Given the description of an element on the screen output the (x, y) to click on. 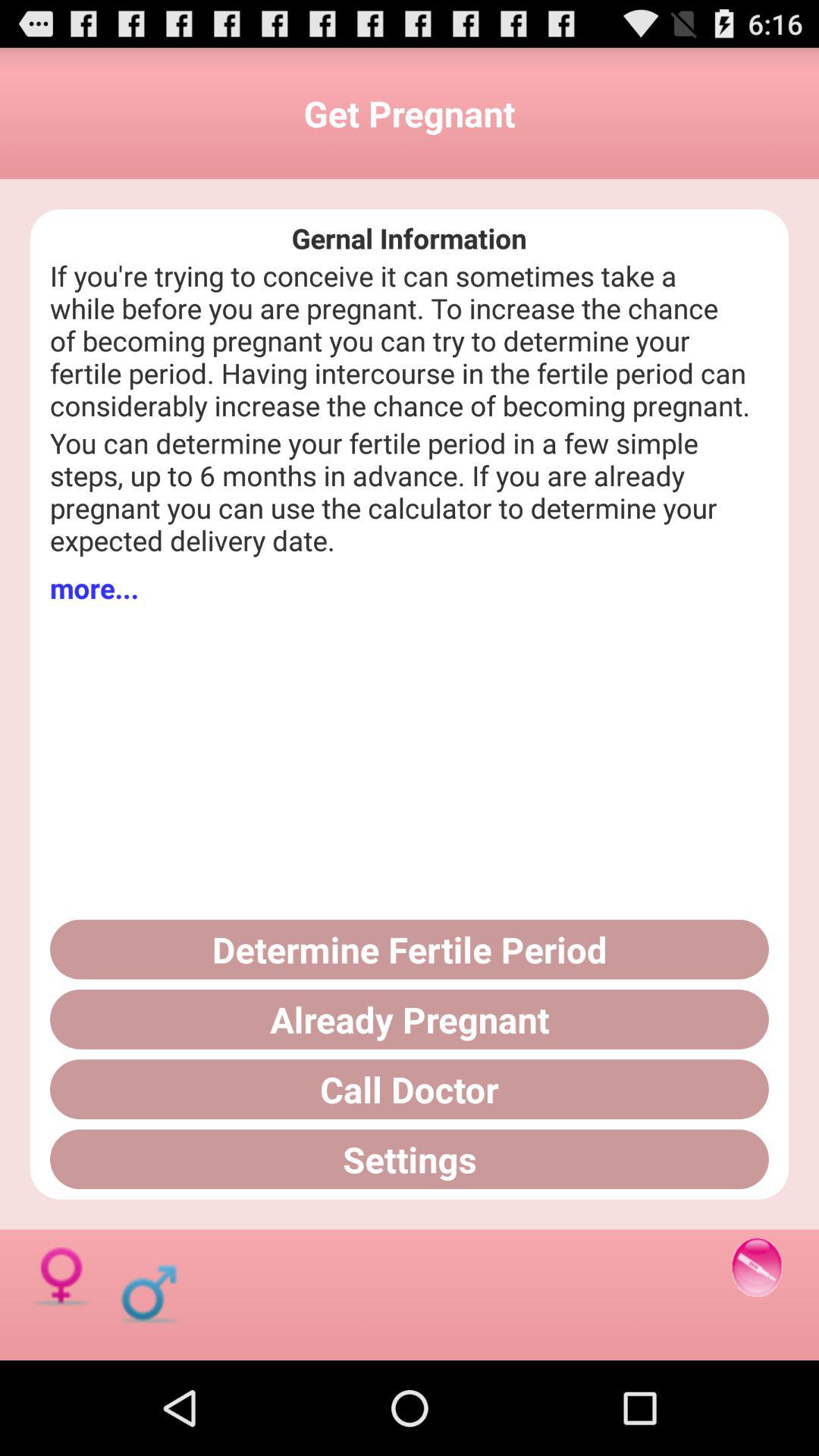
turn on the more... app (94, 587)
